Given the description of an element on the screen output the (x, y) to click on. 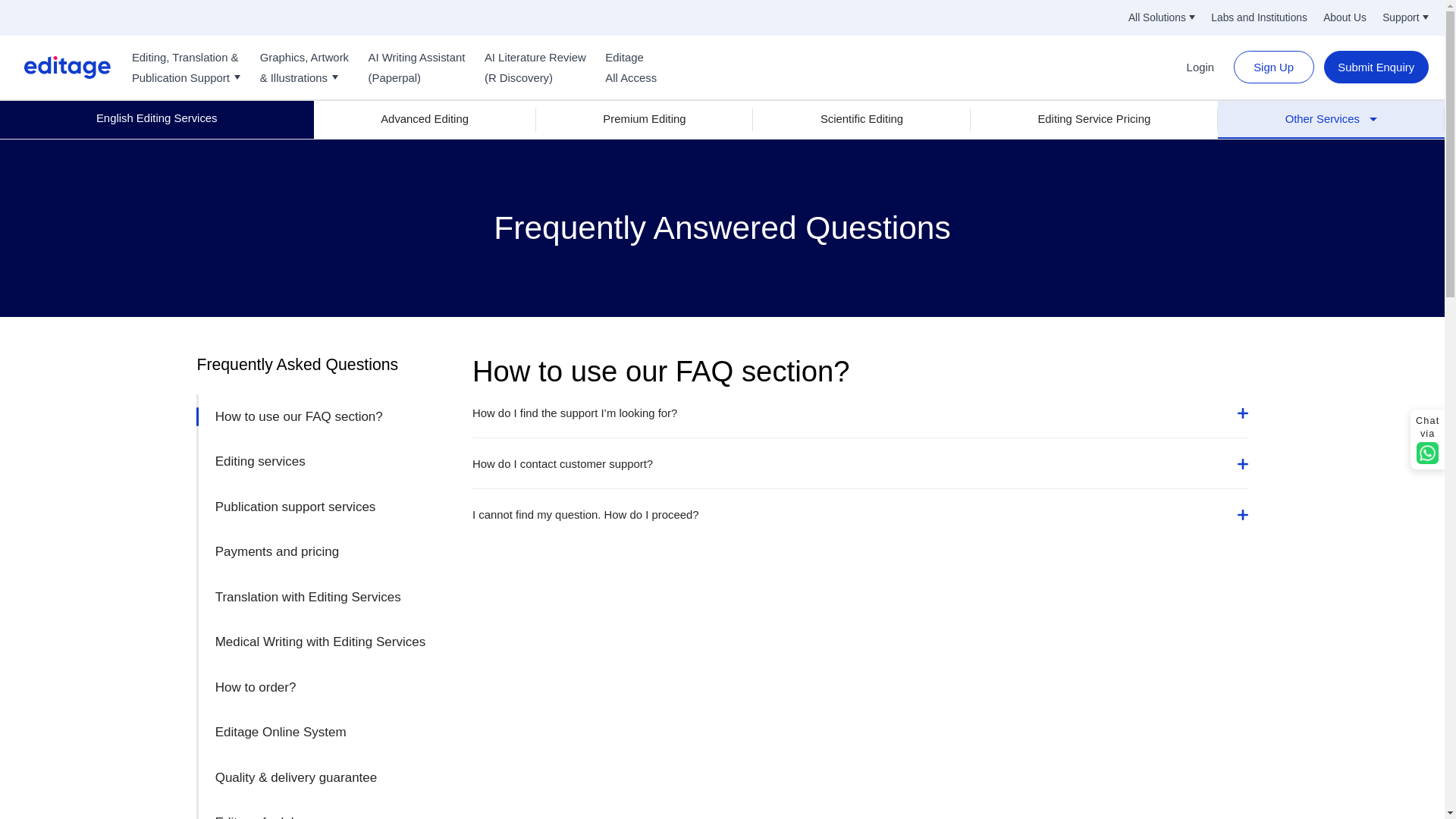
Support (1404, 17)
Labs and Institutions (1259, 17)
About Us (1345, 17)
All Solutions (1161, 17)
